Given the description of an element on the screen output the (x, y) to click on. 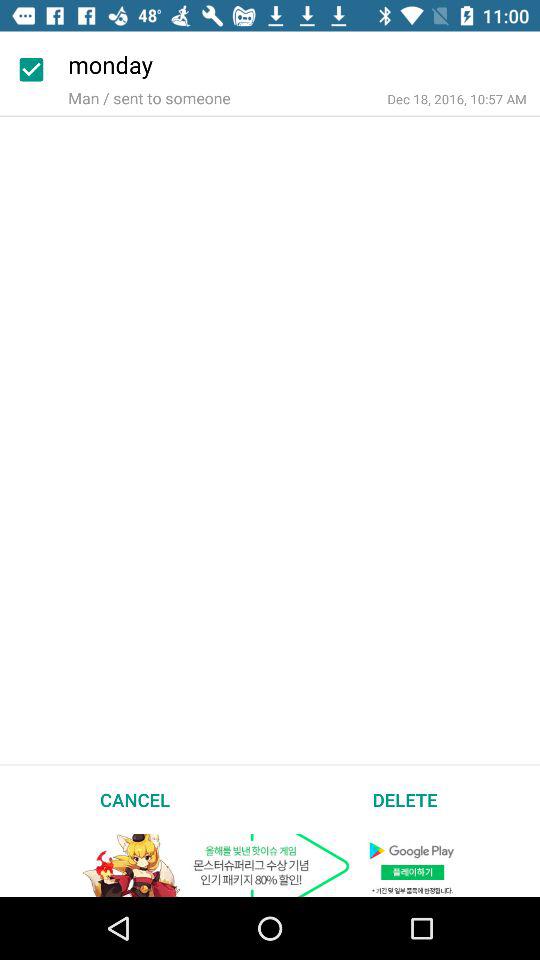
scroll until monday icon (304, 62)
